Given the description of an element on the screen output the (x, y) to click on. 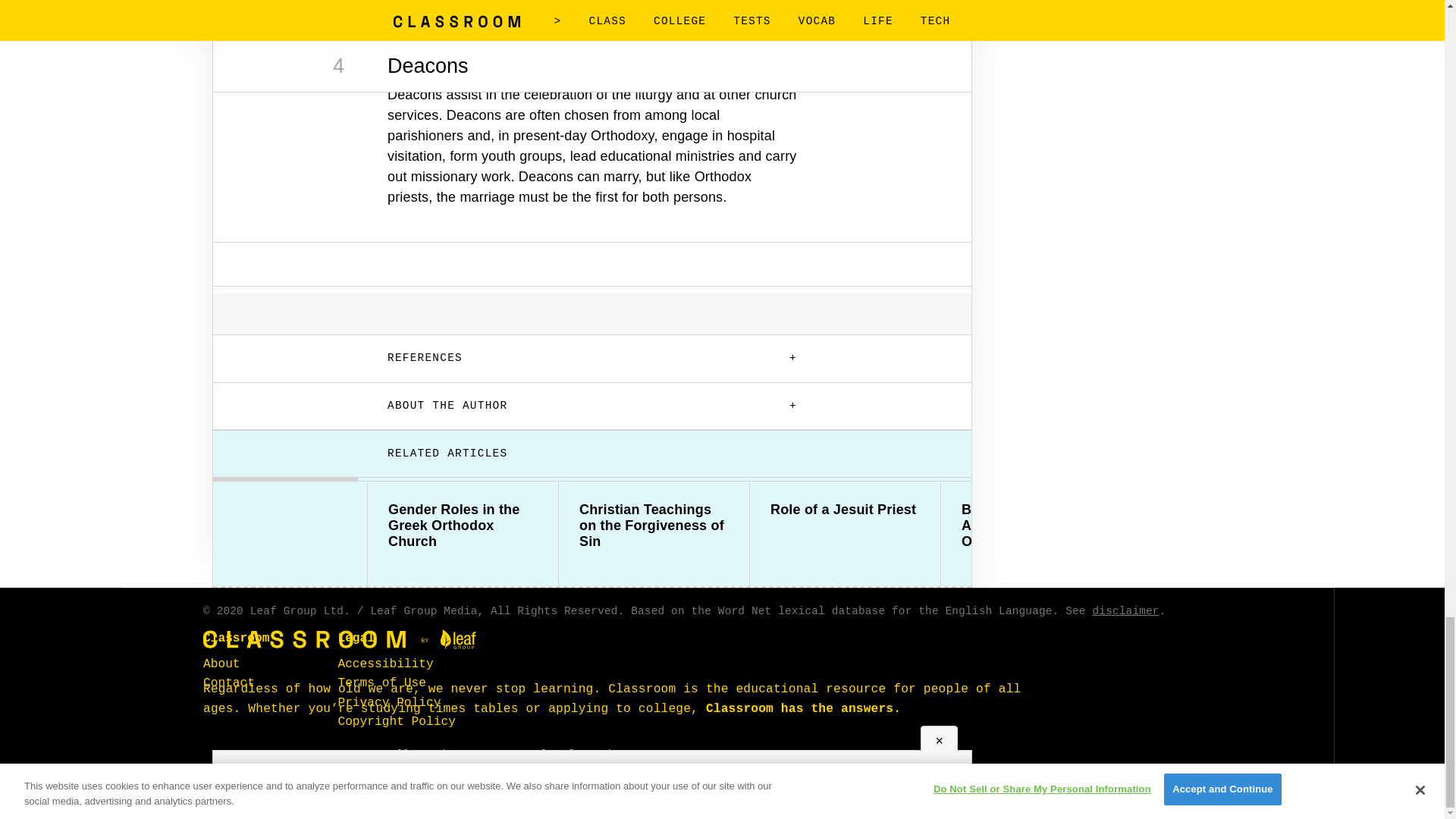
Gender Roles in the Greek Orthodox Church (462, 525)
Christian Teachings on the Forgiveness of Sin (654, 525)
Contact (228, 683)
About (221, 663)
Role of a Jesuit Priest (844, 509)
Beliefs of the American and Greek Orthodox Religion (1035, 525)
How the Catholic Church Works (1227, 517)
